Given the description of an element on the screen output the (x, y) to click on. 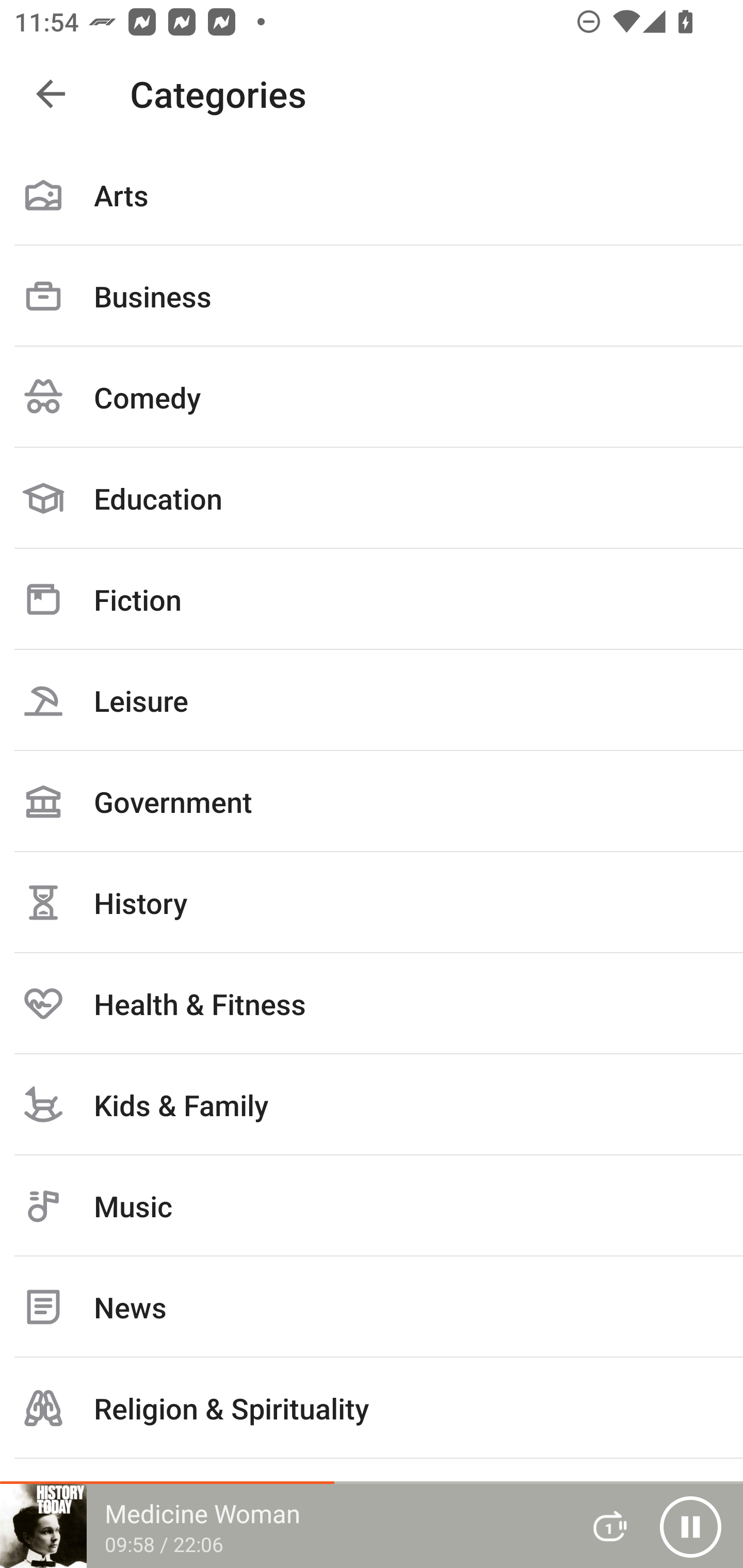
Navigate up (50, 93)
Arts (371, 195)
Business (371, 296)
Comedy (371, 397)
Education (371, 498)
Fiction (371, 598)
Leisure (371, 700)
Government (371, 801)
History (371, 902)
Health & Fitness (371, 1003)
Kids & Family (371, 1104)
Music (371, 1205)
News (371, 1306)
Religion & Spirituality (371, 1407)
Medicine Woman 09:58 / 22:06 (283, 1525)
Pause (690, 1526)
